Given the description of an element on the screen output the (x, y) to click on. 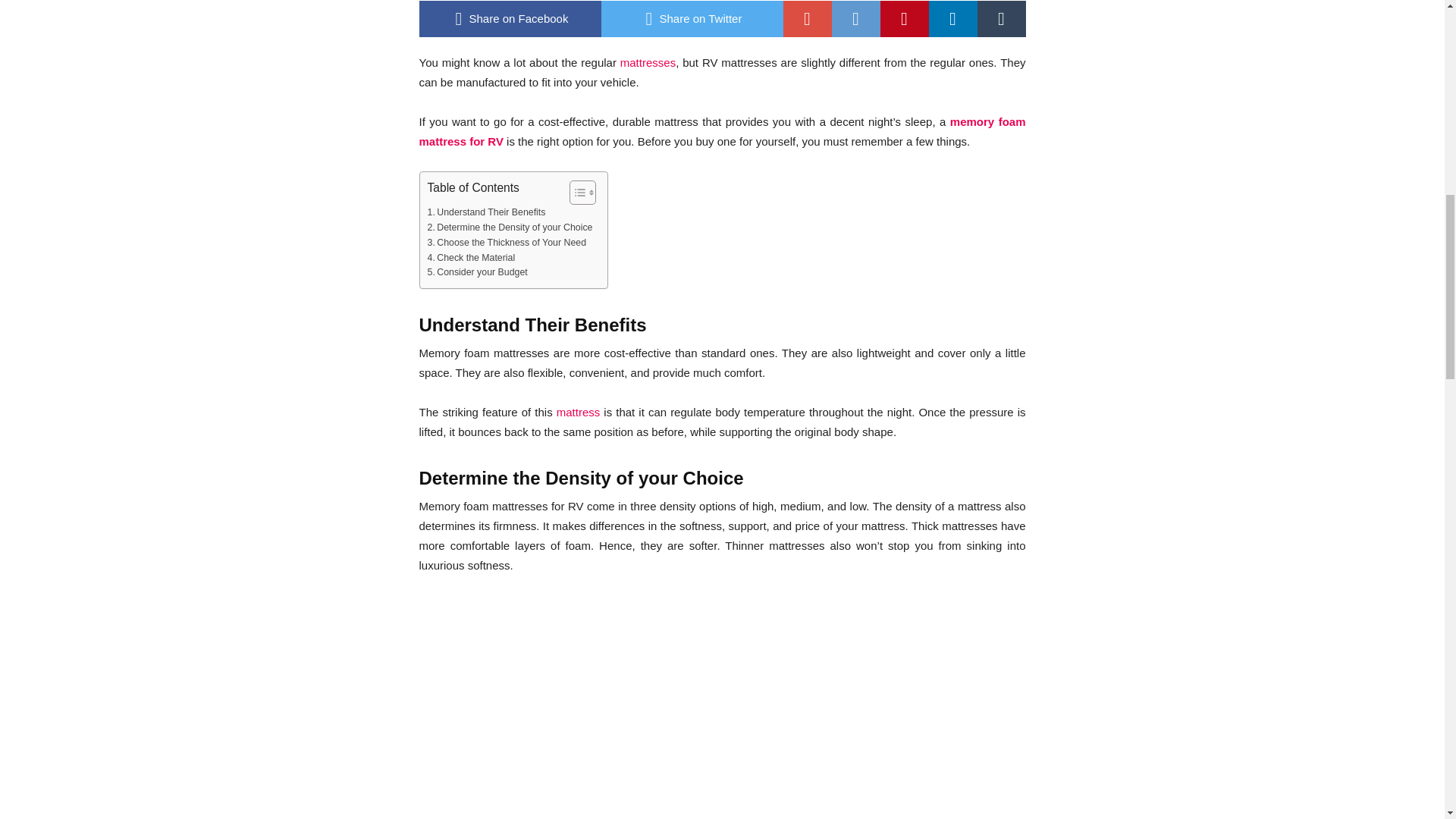
google (807, 18)
twitter (691, 18)
facebook (509, 18)
